Given the description of an element on the screen output the (x, y) to click on. 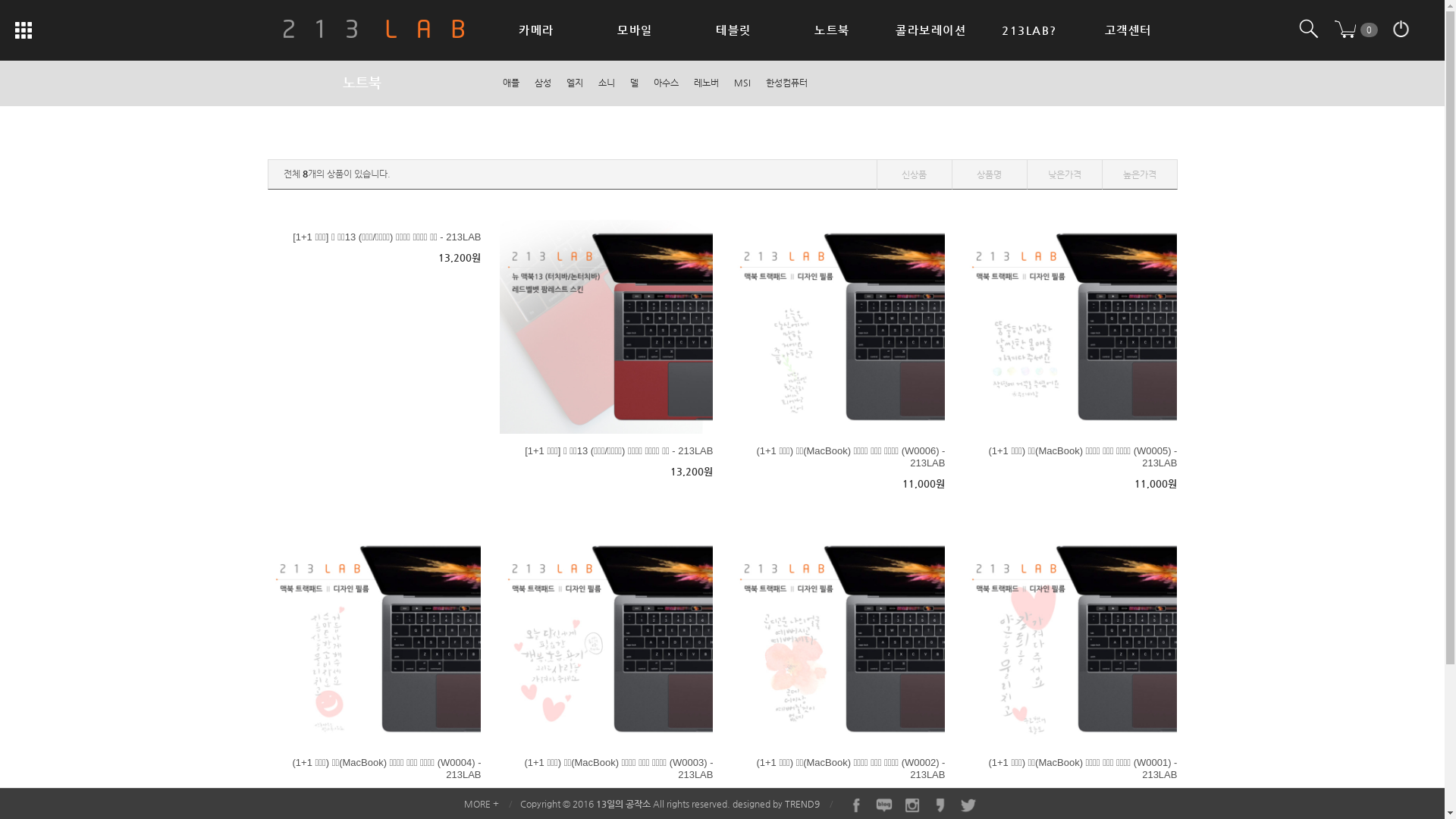
MSI Element type: text (742, 82)
MORE + Element type: text (481, 803)
0 Element type: text (1357, 28)
TREND9 Element type: text (801, 803)
